Given the description of an element on the screen output the (x, y) to click on. 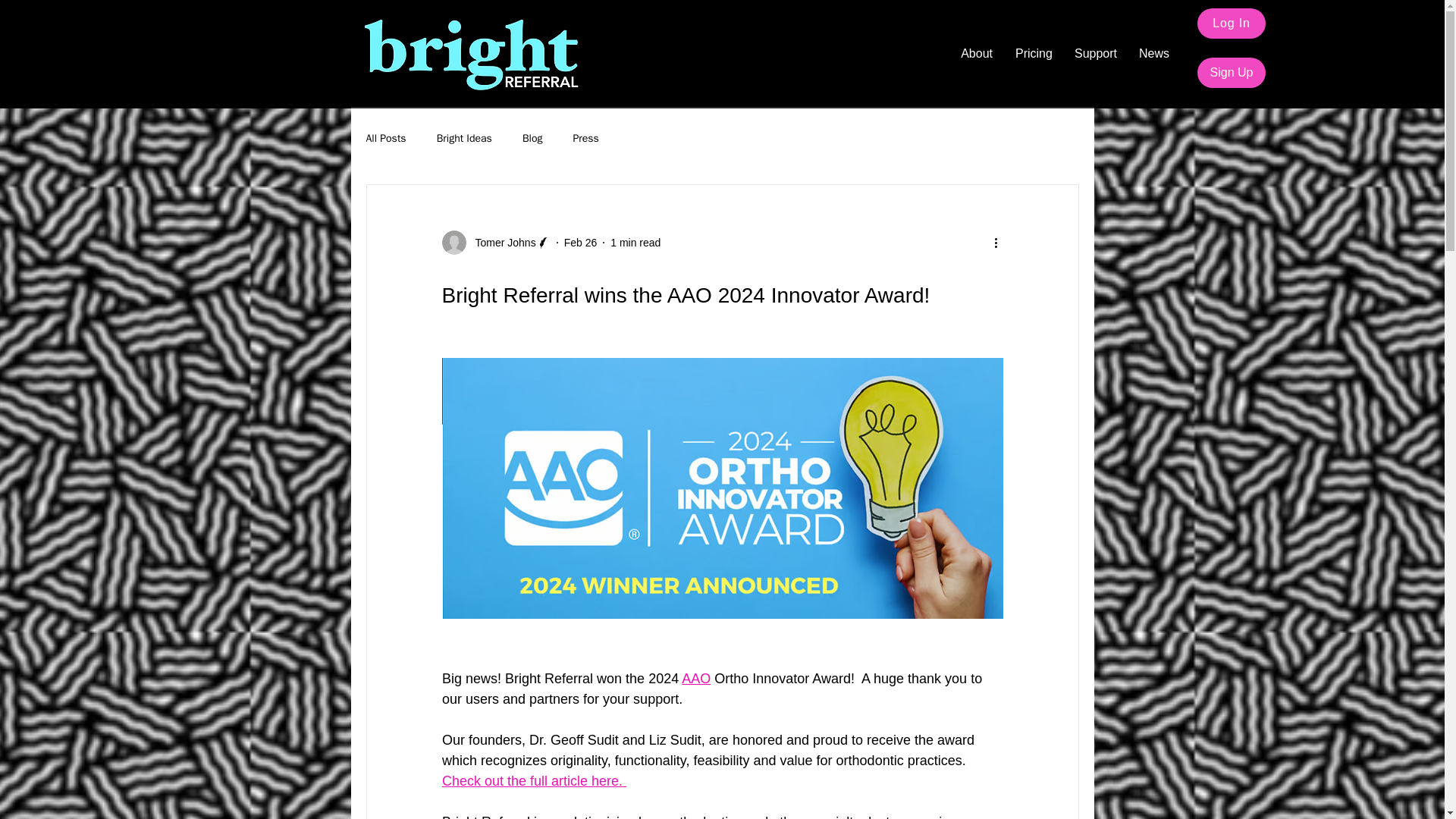
Tomer Johns (500, 242)
Support (1094, 53)
AAO (695, 678)
Check out the full article here.  (533, 780)
1 min read (635, 242)
Feb 26 (580, 242)
News (1152, 53)
All Posts (385, 138)
Press (585, 138)
Tomer Johns (495, 242)
